Given the description of an element on the screen output the (x, y) to click on. 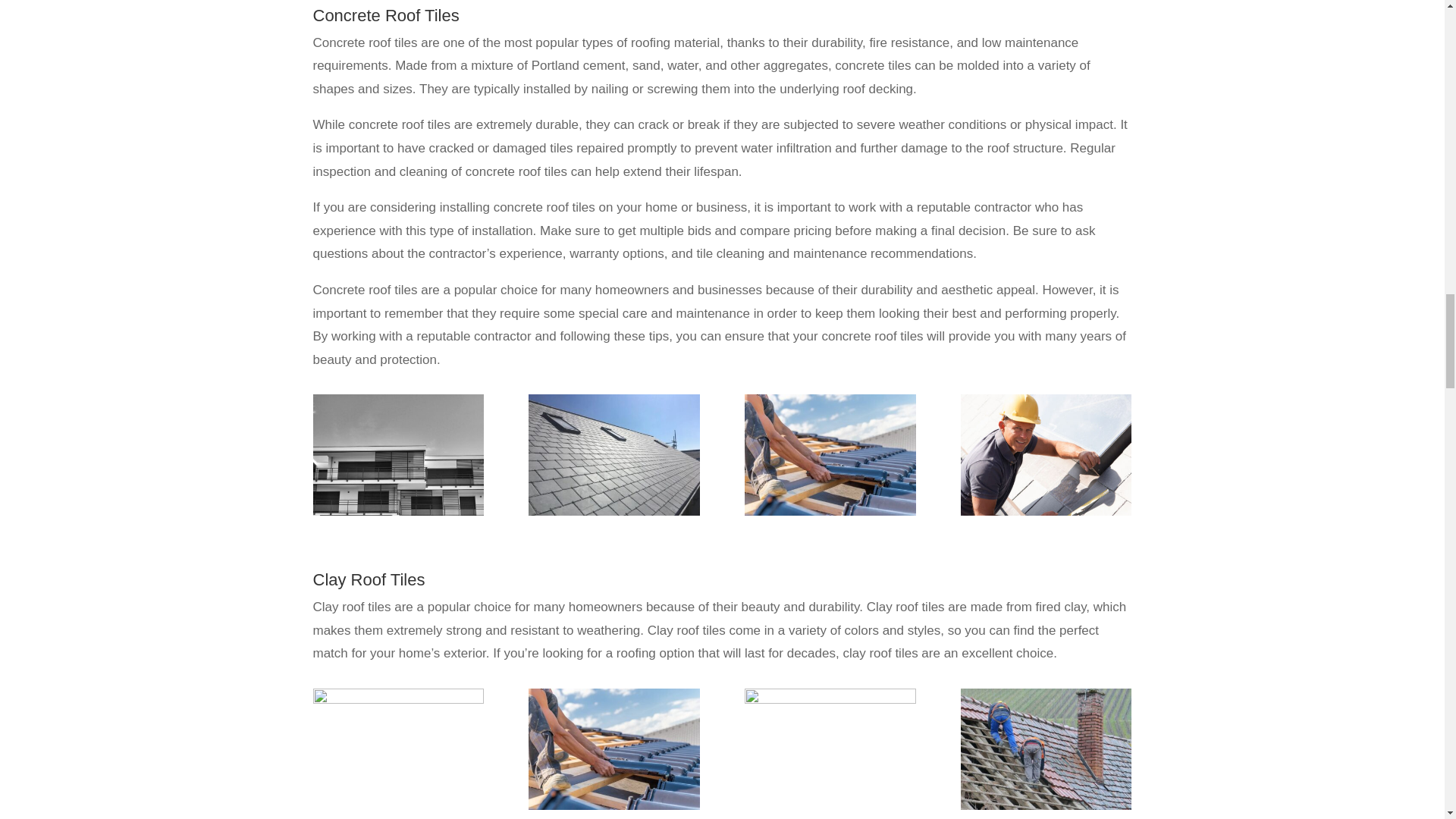
roofing-services (613, 511)
slate-roof (398, 699)
taking roof measurement (1045, 511)
roof-repairs (829, 511)
roof-repairs (613, 806)
